Given the description of an element on the screen output the (x, y) to click on. 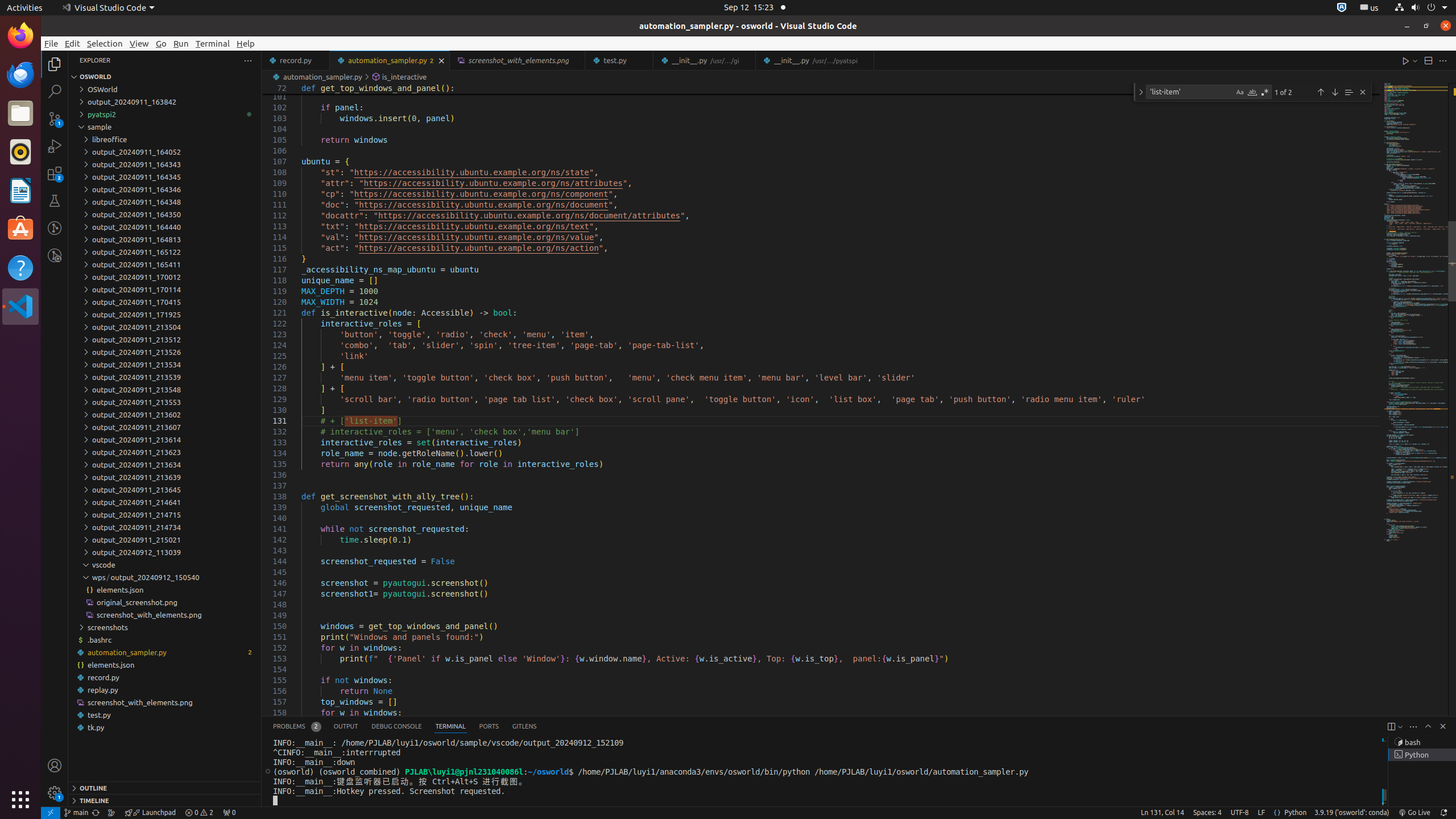
Selection Element type: push-button (104, 43)
Run or Debug... Element type: push-button (1414, 60)
Edit Element type: push-button (72, 43)
Testing Element type: page-tab (54, 200)
Extensions (Ctrl+Shift+X) - 2 require update Element type: page-tab (54, 173)
